Given the description of an element on the screen output the (x, y) to click on. 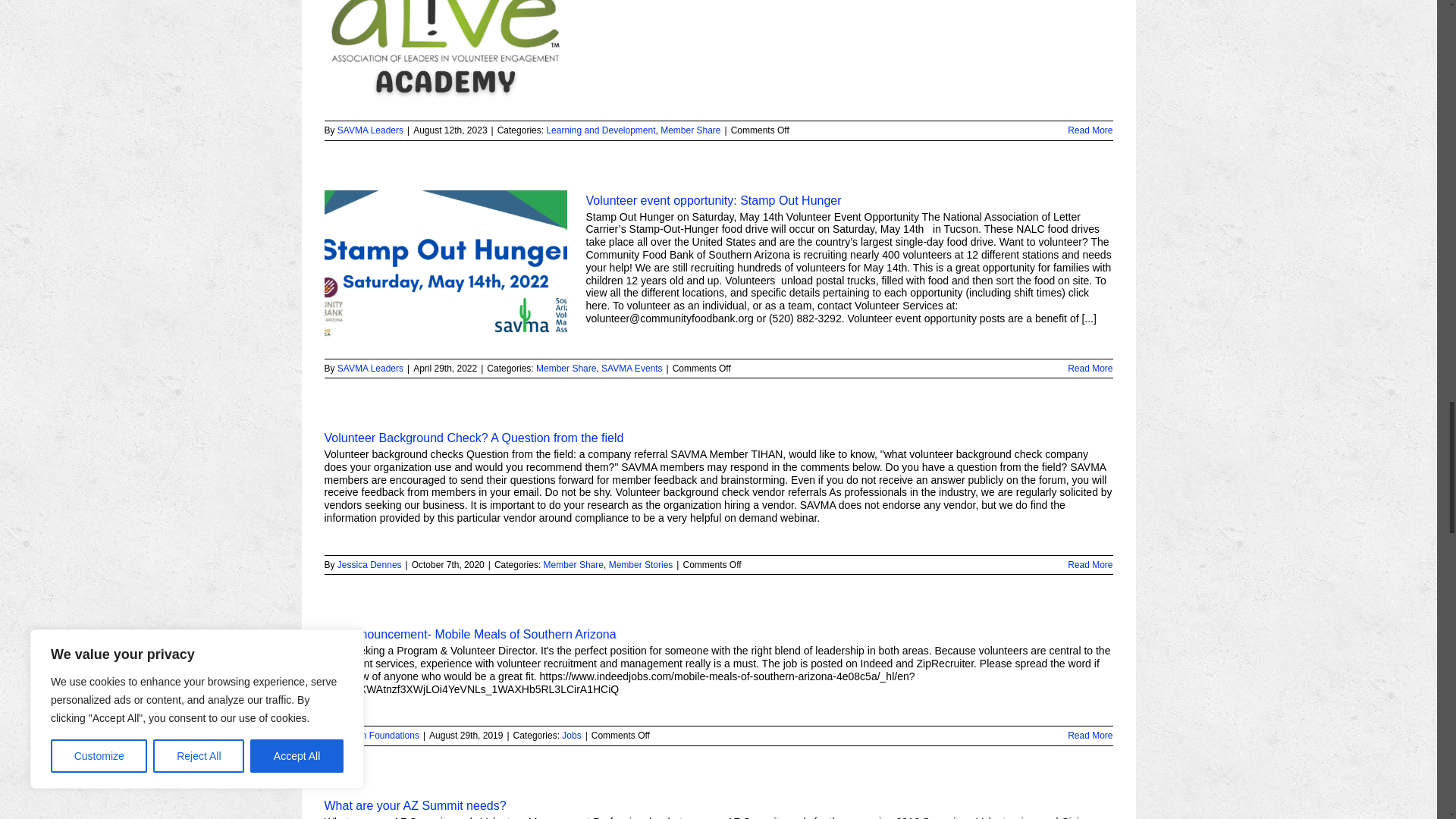
Posts by SAVMA Leaders (370, 130)
Posts by SAVMA Leaders (370, 368)
Posts by Jessica Dennes (369, 564)
Posts by Tucson Foundations (378, 735)
